Given the description of an element on the screen output the (x, y) to click on. 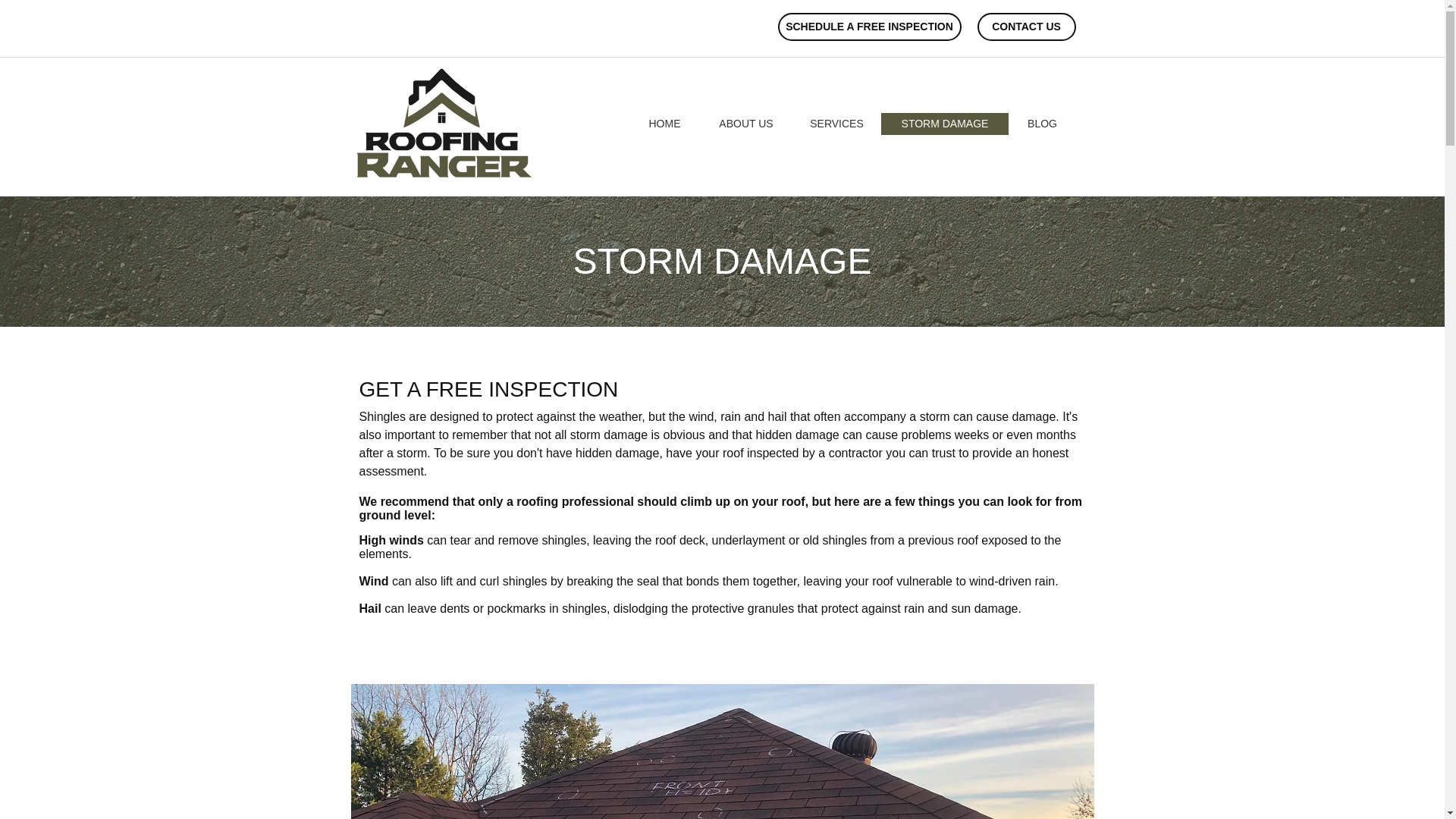
ABOUT US (745, 124)
HOME (663, 124)
SERVICES (836, 124)
SCHEDULE A FREE INSPECTION (868, 26)
CONTACT US (1025, 26)
BLOG (1042, 124)
STORM DAMAGE (944, 124)
